Given the description of an element on the screen output the (x, y) to click on. 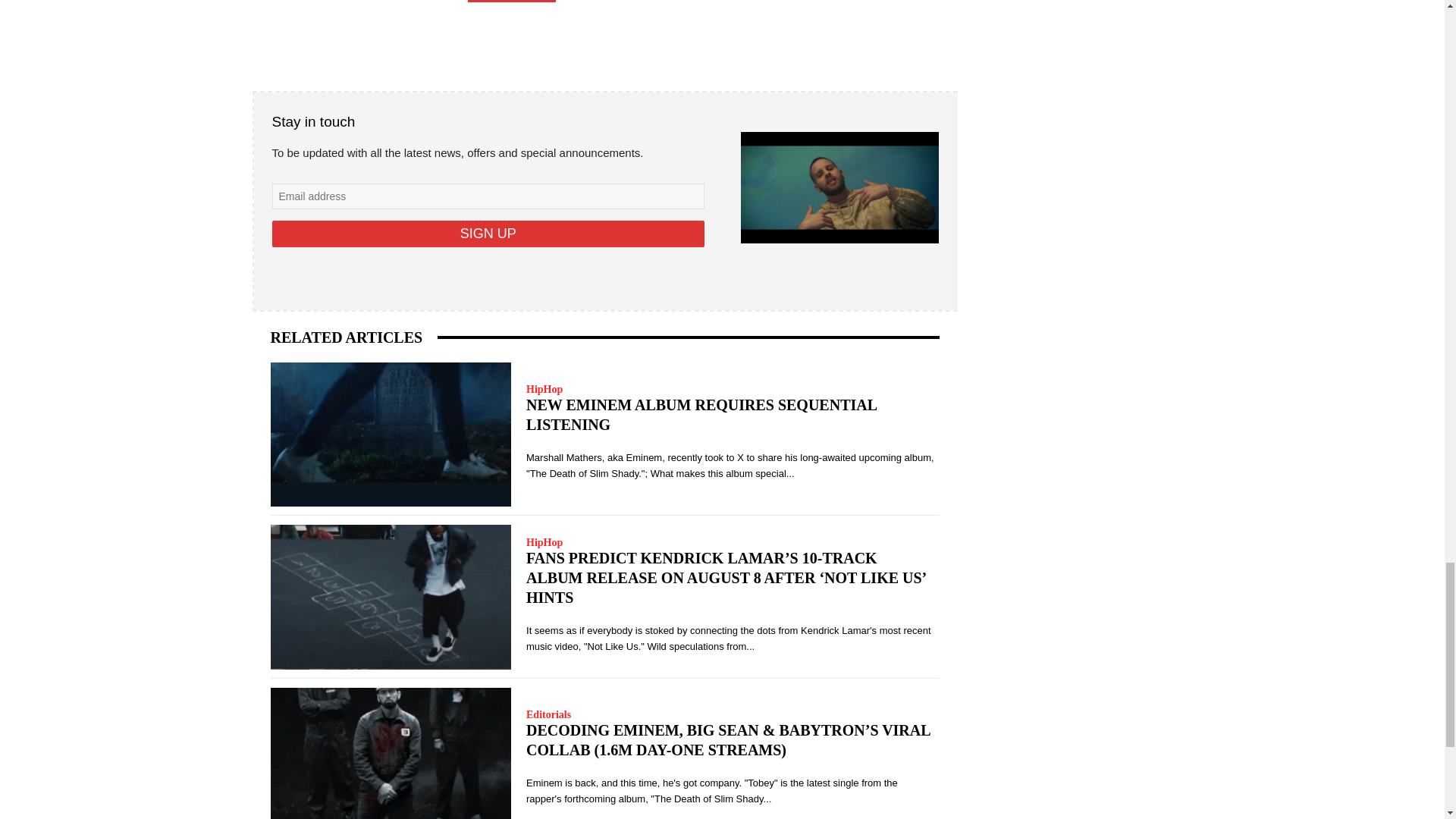
Post Comment (511, 1)
